Given the description of an element on the screen output the (x, y) to click on. 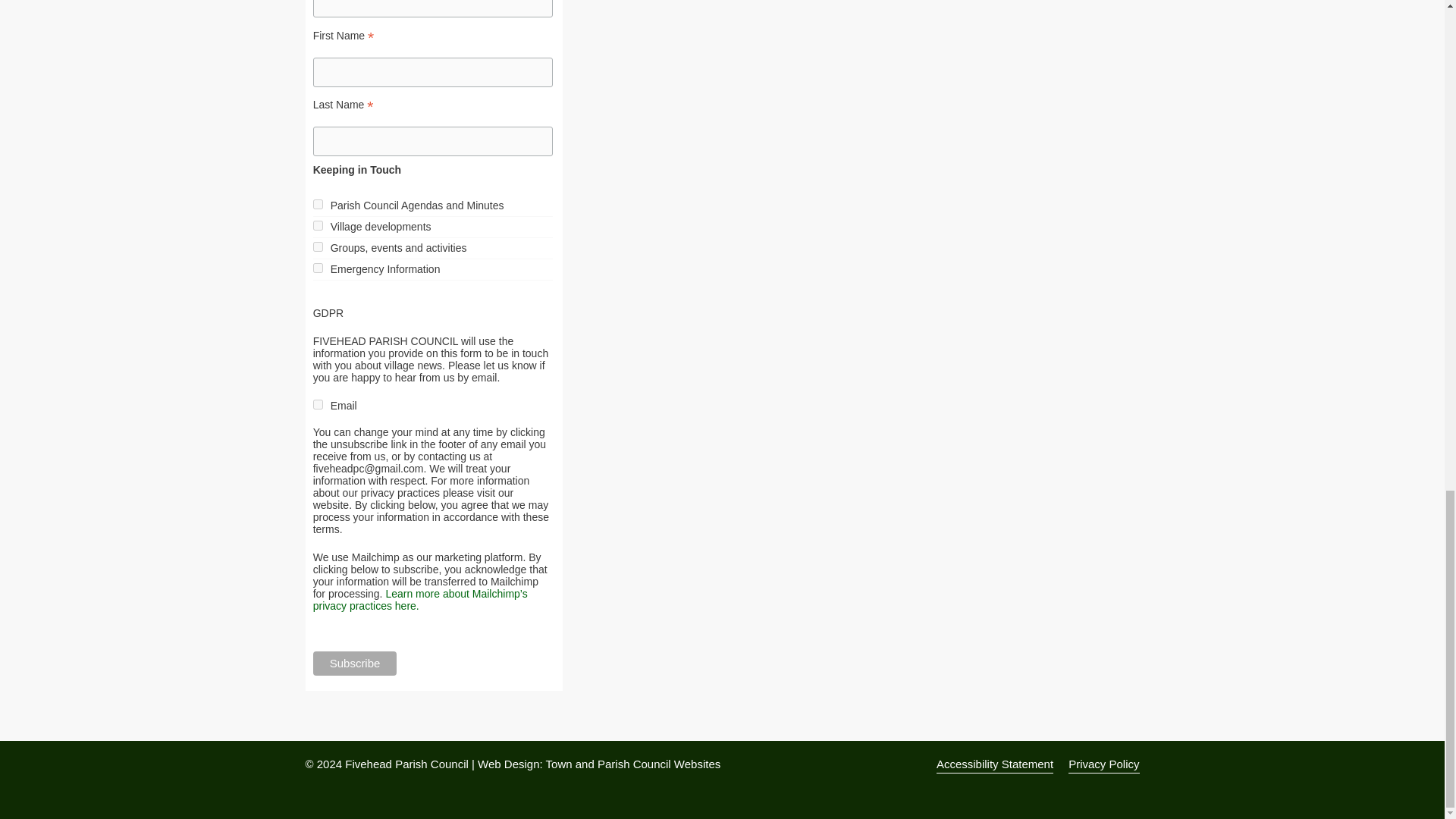
4 (318, 246)
Subscribe (355, 663)
Scroll back to top (1406, 299)
2 (318, 225)
Y (318, 404)
8 (318, 267)
1 (318, 204)
